Given the description of an element on the screen output the (x, y) to click on. 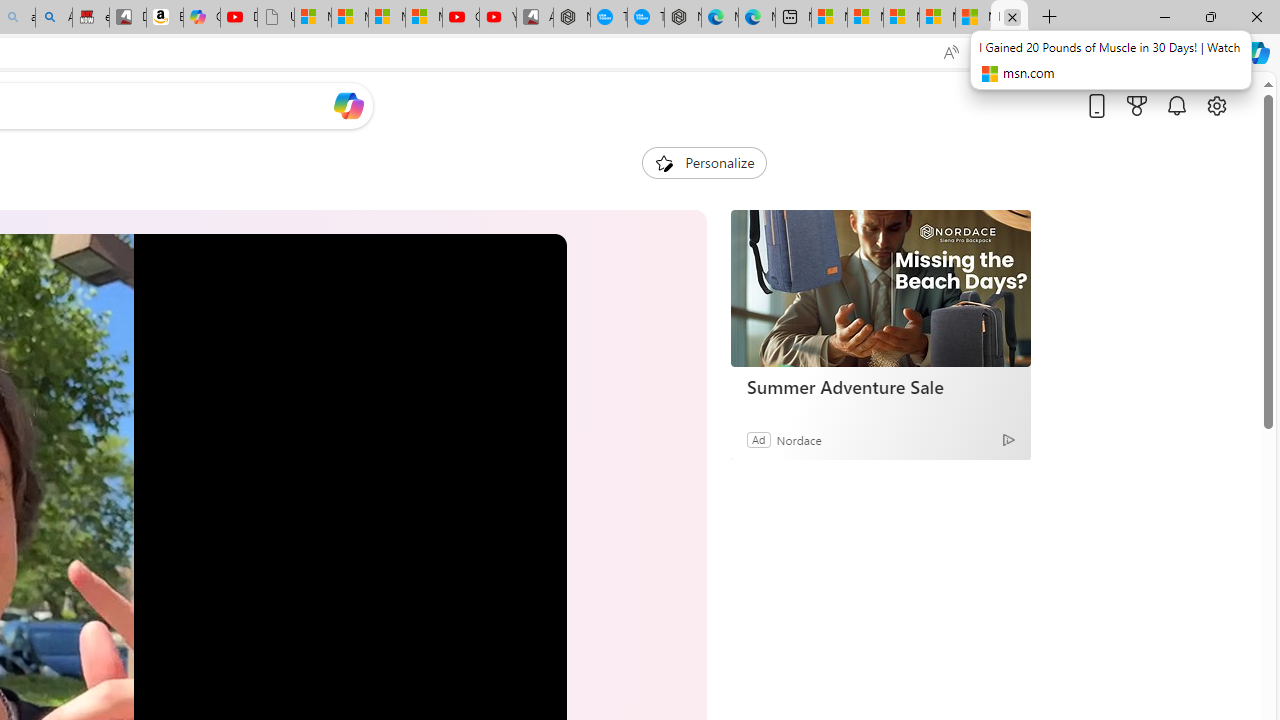
All Cubot phones (534, 17)
The most popular Google 'how to' searches (646, 17)
Restore (1210, 16)
Open Copilot (347, 105)
Nordace - Nordace has arrived Hong Kong (682, 17)
Personalize (703, 162)
Ad Choice (1008, 439)
Settings and more (Alt+F) (1215, 52)
Notifications (1176, 105)
Microsoft Start (973, 17)
Copilot (Ctrl+Shift+.) (1258, 52)
Minimize (1164, 16)
Gloom - YouTube (460, 17)
Split screen (1083, 52)
